Given the description of an element on the screen output the (x, y) to click on. 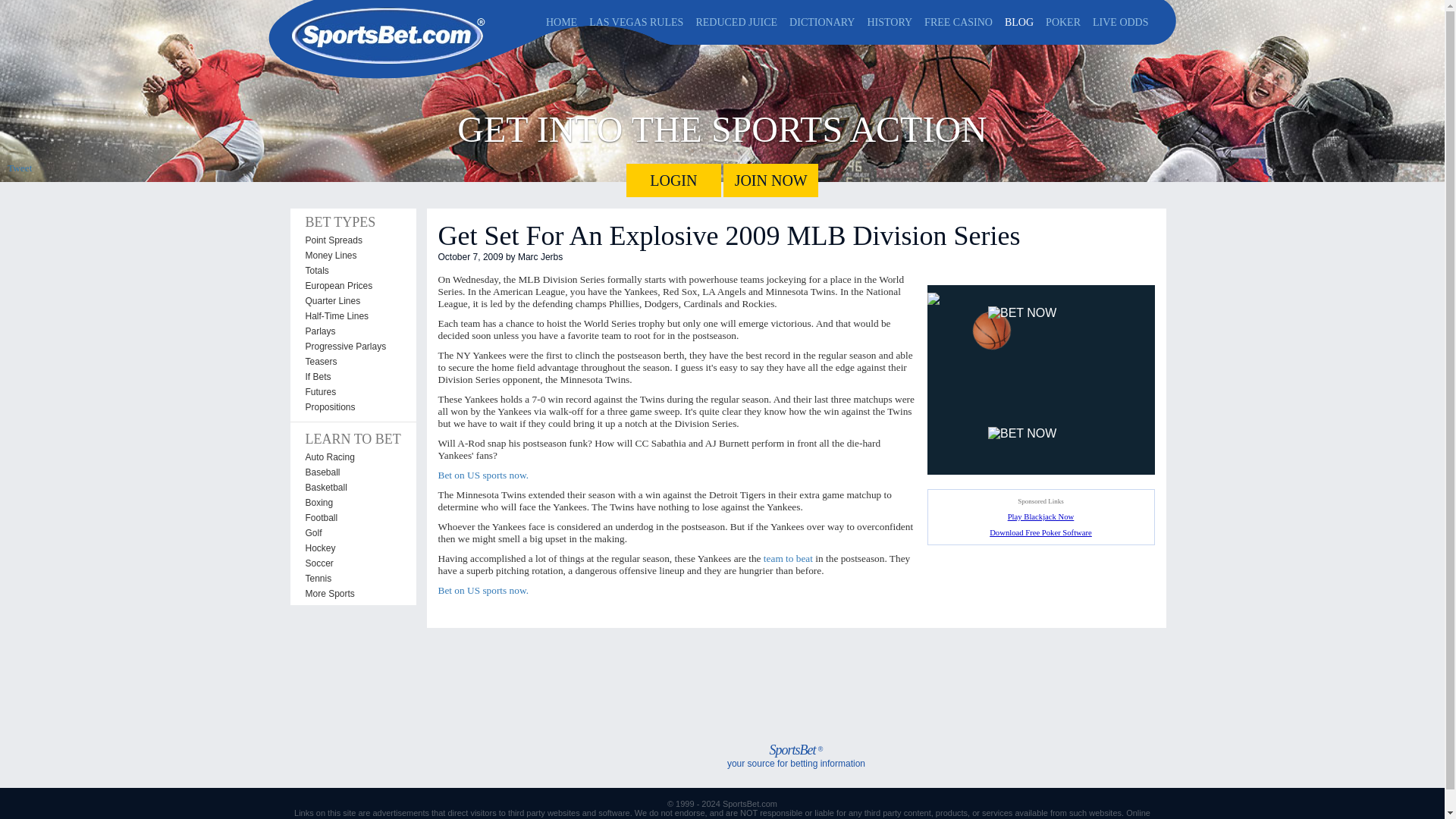
team to beat (787, 558)
Propositions (351, 406)
Parlays (351, 331)
If Bets (351, 376)
Bet on US sports now. (483, 474)
Half-Time Lines (351, 315)
Boxing (351, 502)
Baseball (351, 472)
European Prices (351, 285)
Futures (351, 391)
Hockey (351, 548)
DICTIONARY (821, 22)
Soccer (351, 563)
Golf (351, 532)
FREE CASINO (958, 22)
